Given the description of an element on the screen output the (x, y) to click on. 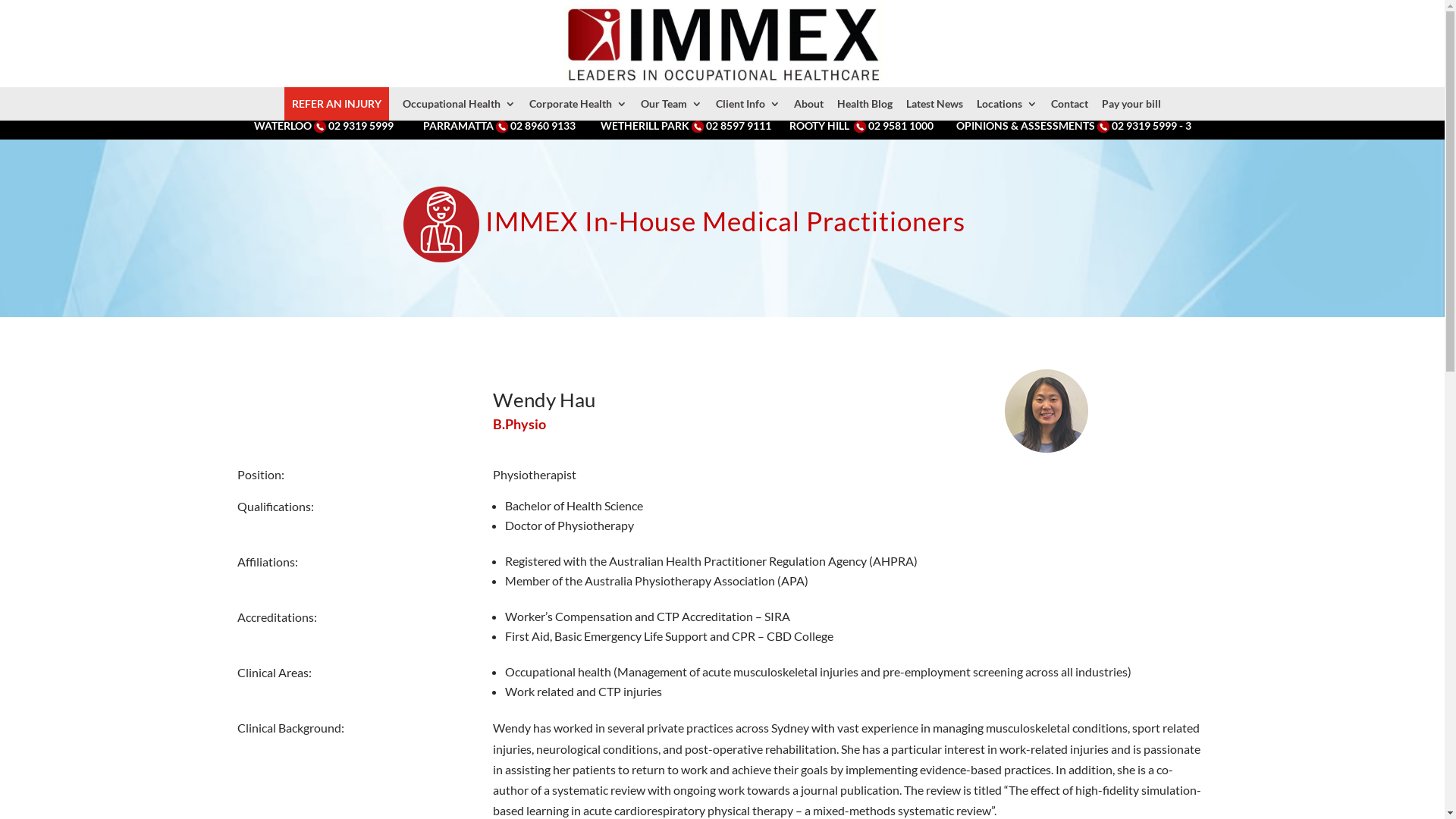
About Element type: text (807, 103)
Contact Element type: text (1069, 103)
Health Blog Element type: text (864, 103)
REFER AN INJURY Element type: text (335, 103)
Occupational Health Element type: text (457, 103)
02 8597 9111 Element type: text (737, 125)
Client Info Element type: text (747, 103)
Our Team Element type: text (670, 103)
Pay your bill Element type: text (1130, 103)
02 9319 5999 - 3 Element type: text (1151, 125)
02 8960 9133 Element type: text (541, 125)
Latest News Element type: text (933, 103)
Corporate Health Element type: text (578, 103)
02 9581 1000 Element type: text (899, 125)
02 9319 5999 Element type: text (359, 125)
Locations Element type: text (1006, 103)
wendy-hau-profile-pic Element type: hover (1046, 410)
